Given the description of an element on the screen output the (x, y) to click on. 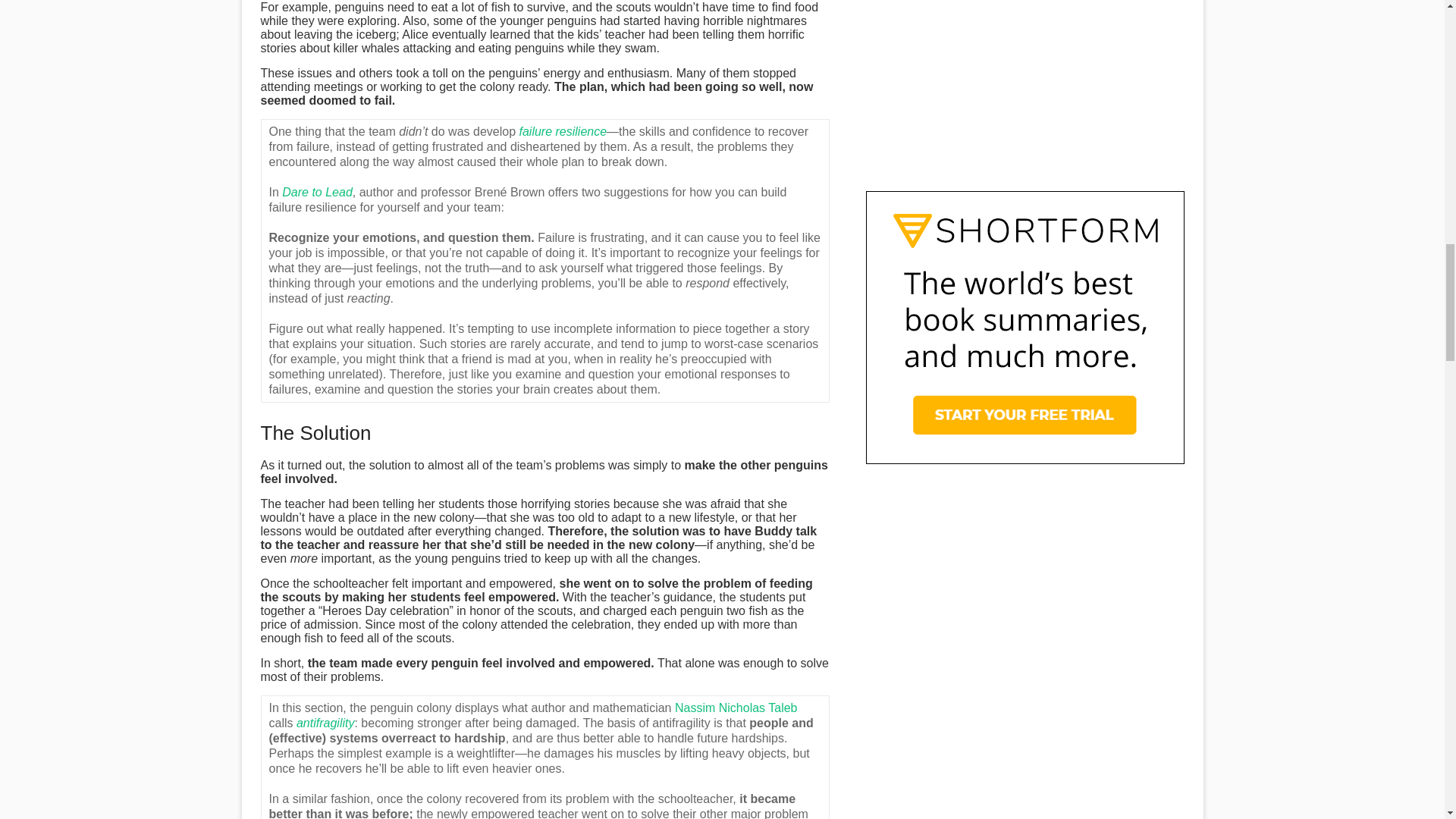
Dare to Lead (317, 192)
antifragility (325, 722)
failure resilience (562, 131)
Nassim Nicholas Taleb (736, 707)
